Given the description of an element on the screen output the (x, y) to click on. 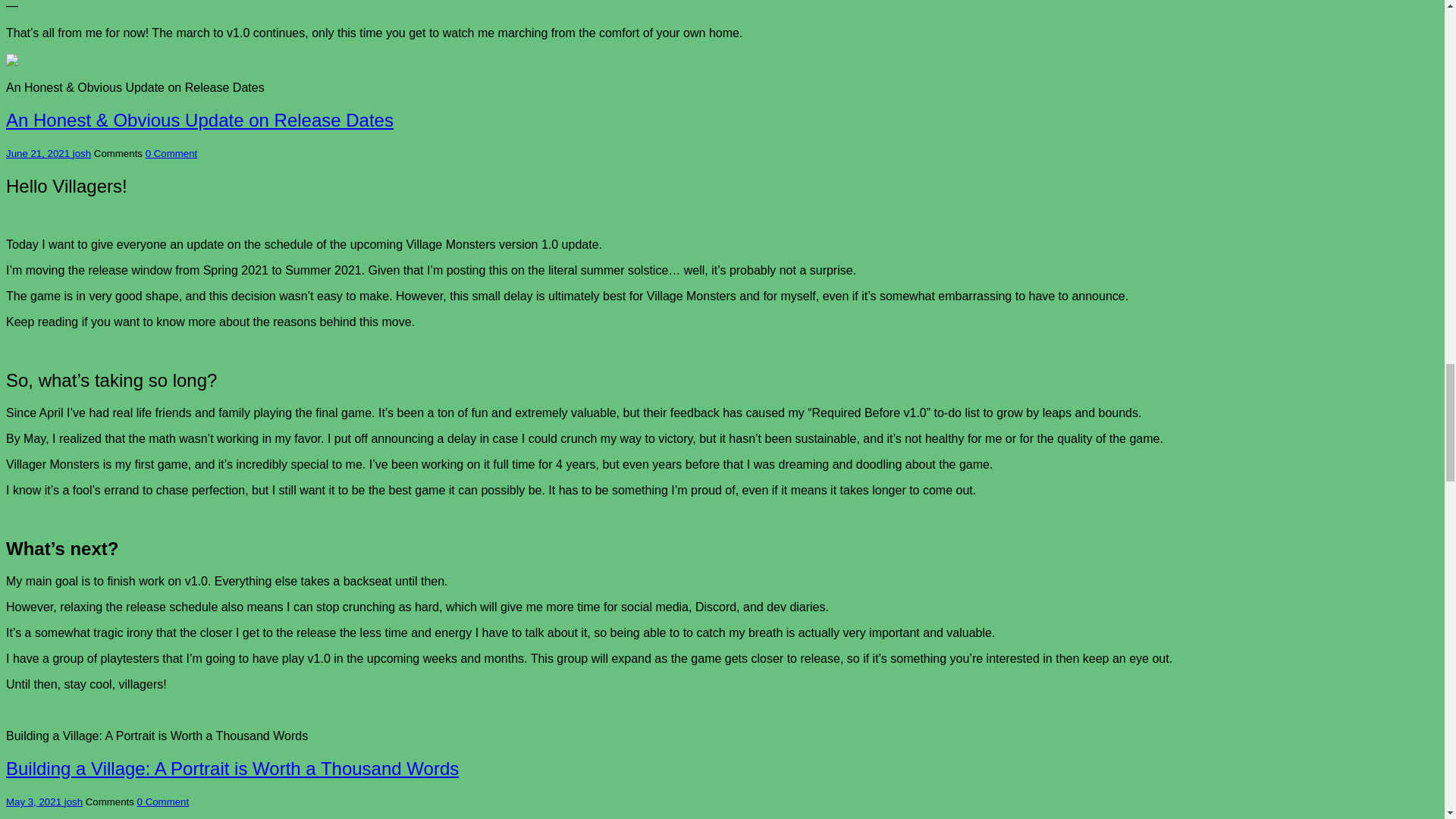
0 Comment (162, 801)
Building a Village: A Portrait is Worth a Thousand Words (231, 768)
View all posts by josh (73, 801)
5:20 pm (34, 801)
May 3, 2021 (34, 801)
View all posts by josh (81, 153)
June 21, 2021 (38, 153)
0 Comment (171, 153)
1:06 pm (38, 153)
josh (81, 153)
